Given the description of an element on the screen output the (x, y) to click on. 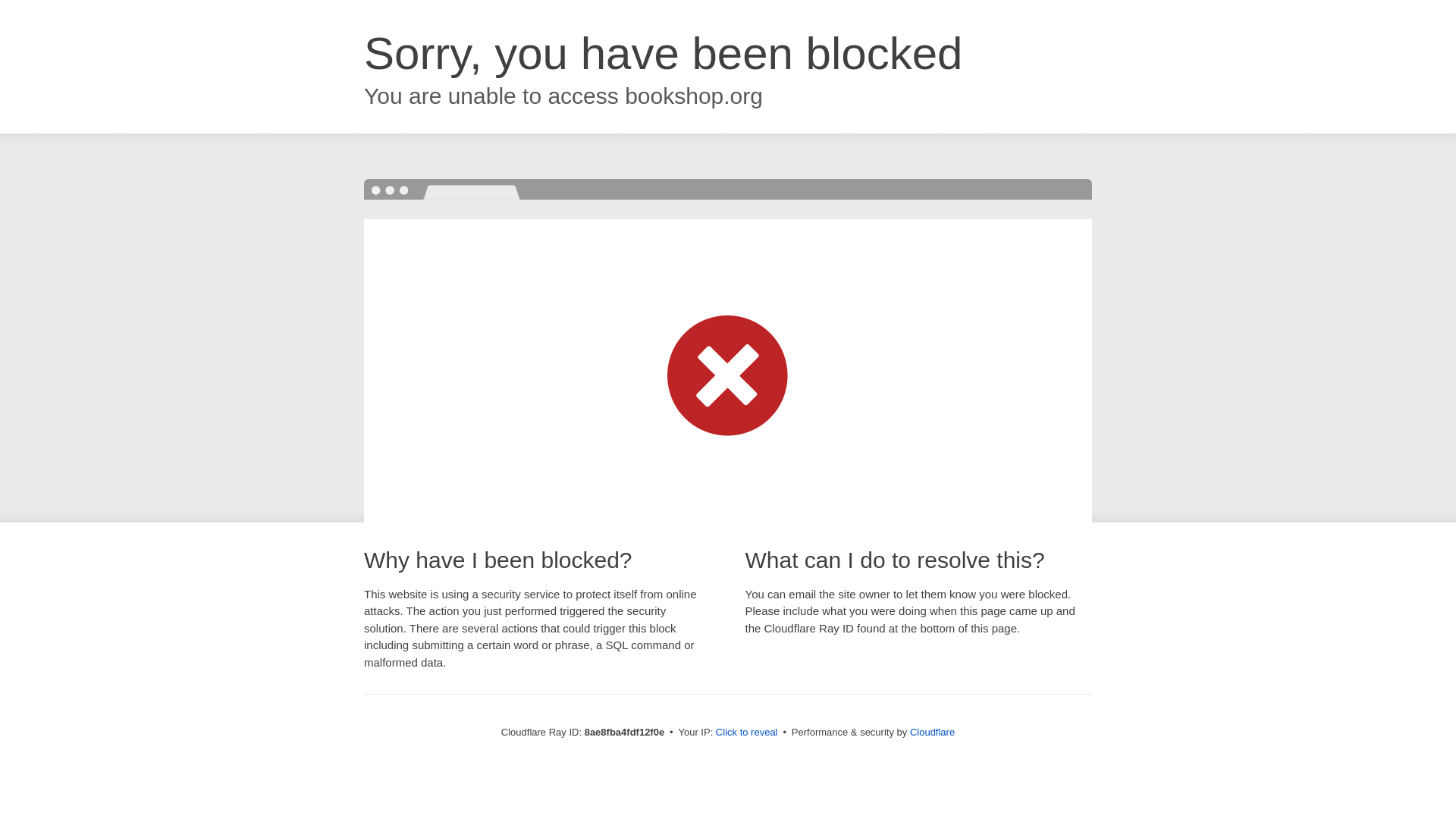
Cloudflare (932, 731)
Click to reveal (746, 732)
